Given the description of an element on the screen output the (x, y) to click on. 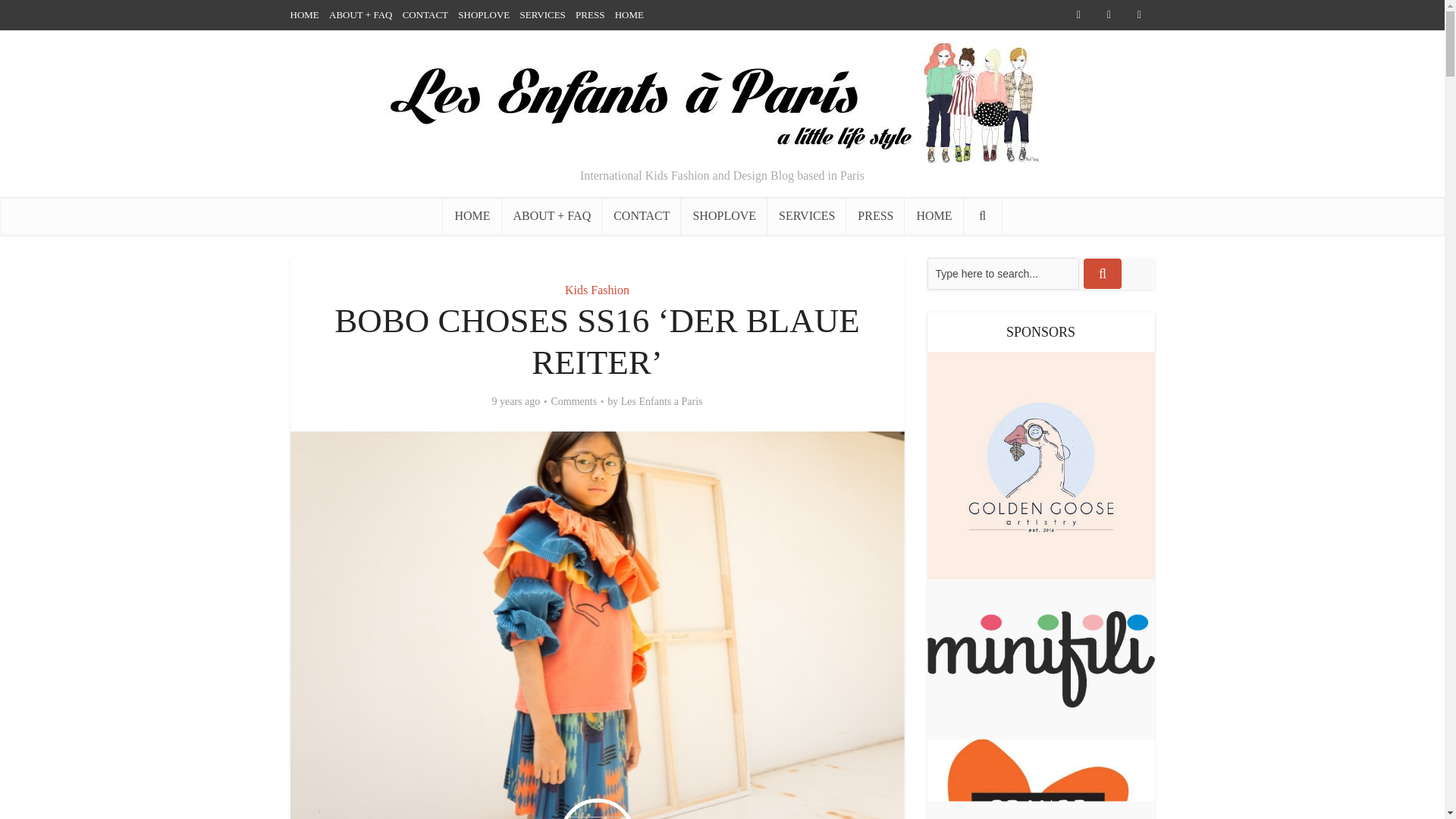
Kids Fashion (596, 289)
SERVICES (806, 216)
Comments (573, 401)
SHOPLOVE (724, 216)
HOME (471, 216)
HOME (933, 216)
HOME (628, 14)
CONTACT (425, 14)
SERVICES (541, 14)
Type here to search... (1002, 273)
PRESS (874, 216)
SHOPLOVE (483, 14)
CONTACT (641, 216)
Les Enfants a Paris (662, 401)
PRESS (589, 14)
